Given the description of an element on the screen output the (x, y) to click on. 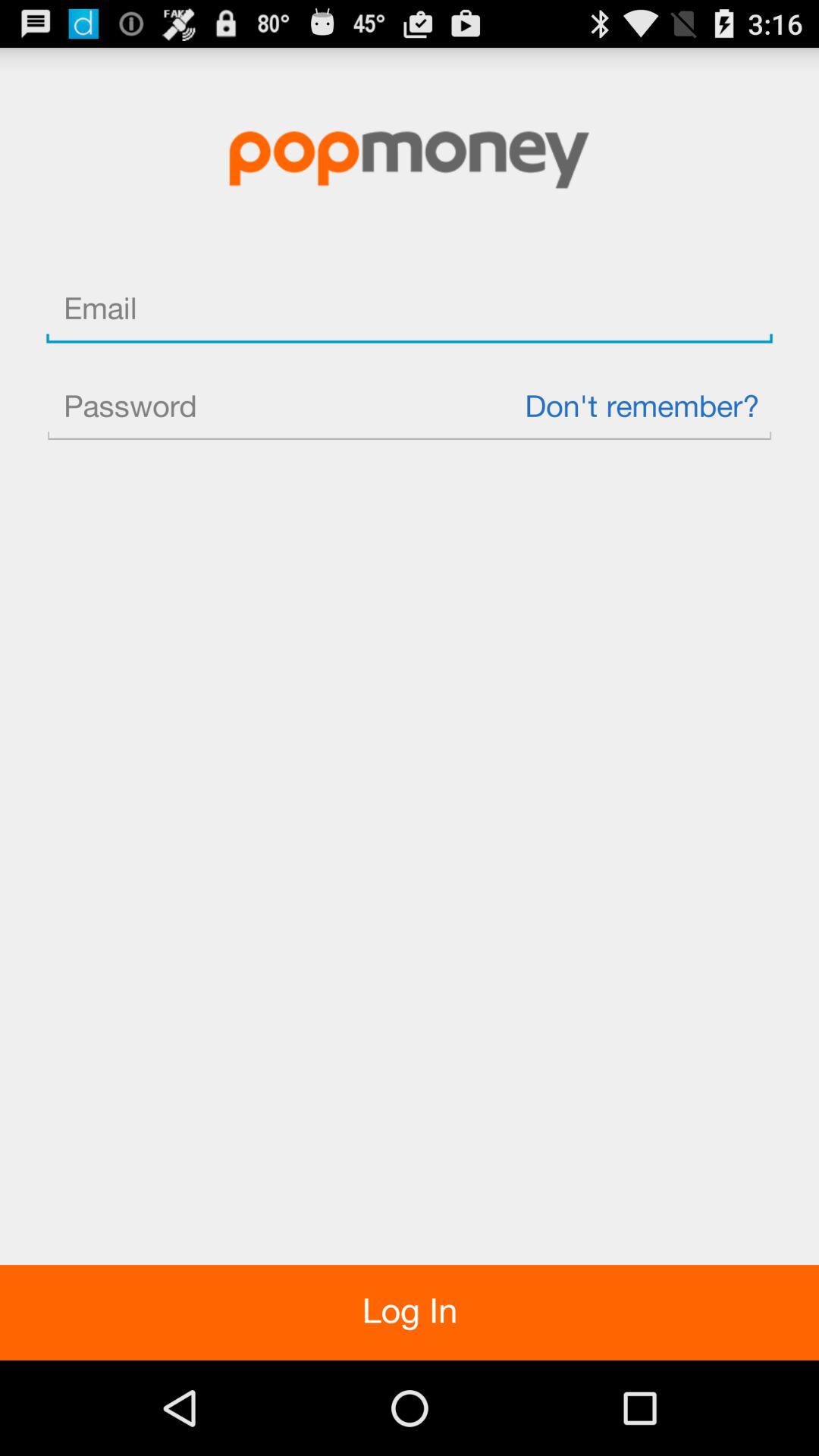
jump to the log in (409, 1312)
